Given the description of an element on the screen output the (x, y) to click on. 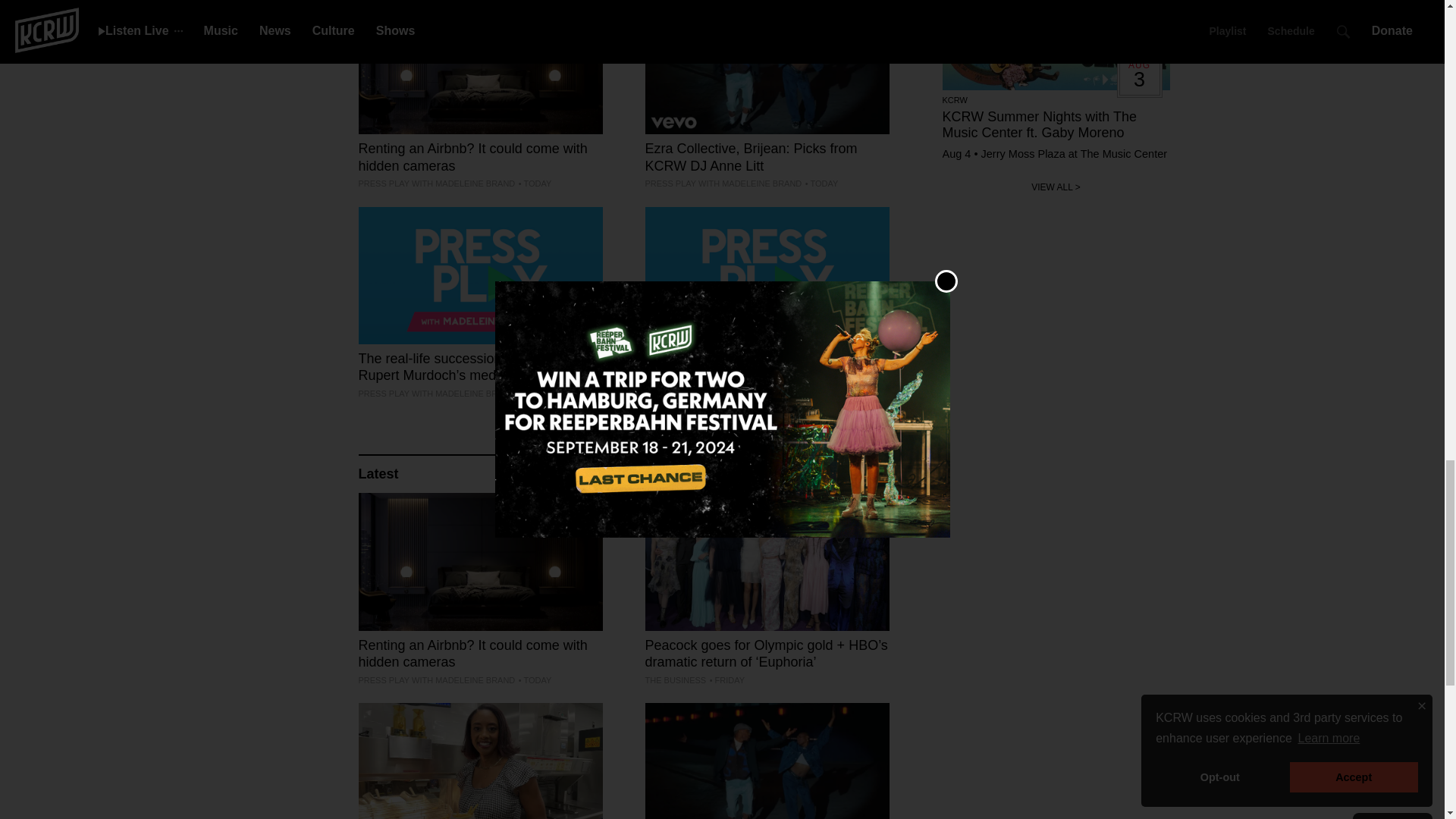
Tuesday, July 30th 2024, 3:00 am (821, 393)
Tuesday, July 30th 2024, 3:00 am (821, 183)
Tuesday, July 30th 2024, 3:00 am (534, 679)
Tuesday, July 30th 2024, 3:00 am (534, 393)
Friday, July 26th 2024, 3:00 pm (727, 679)
Tuesday, July 30th 2024, 3:00 am (534, 183)
